Given the description of an element on the screen output the (x, y) to click on. 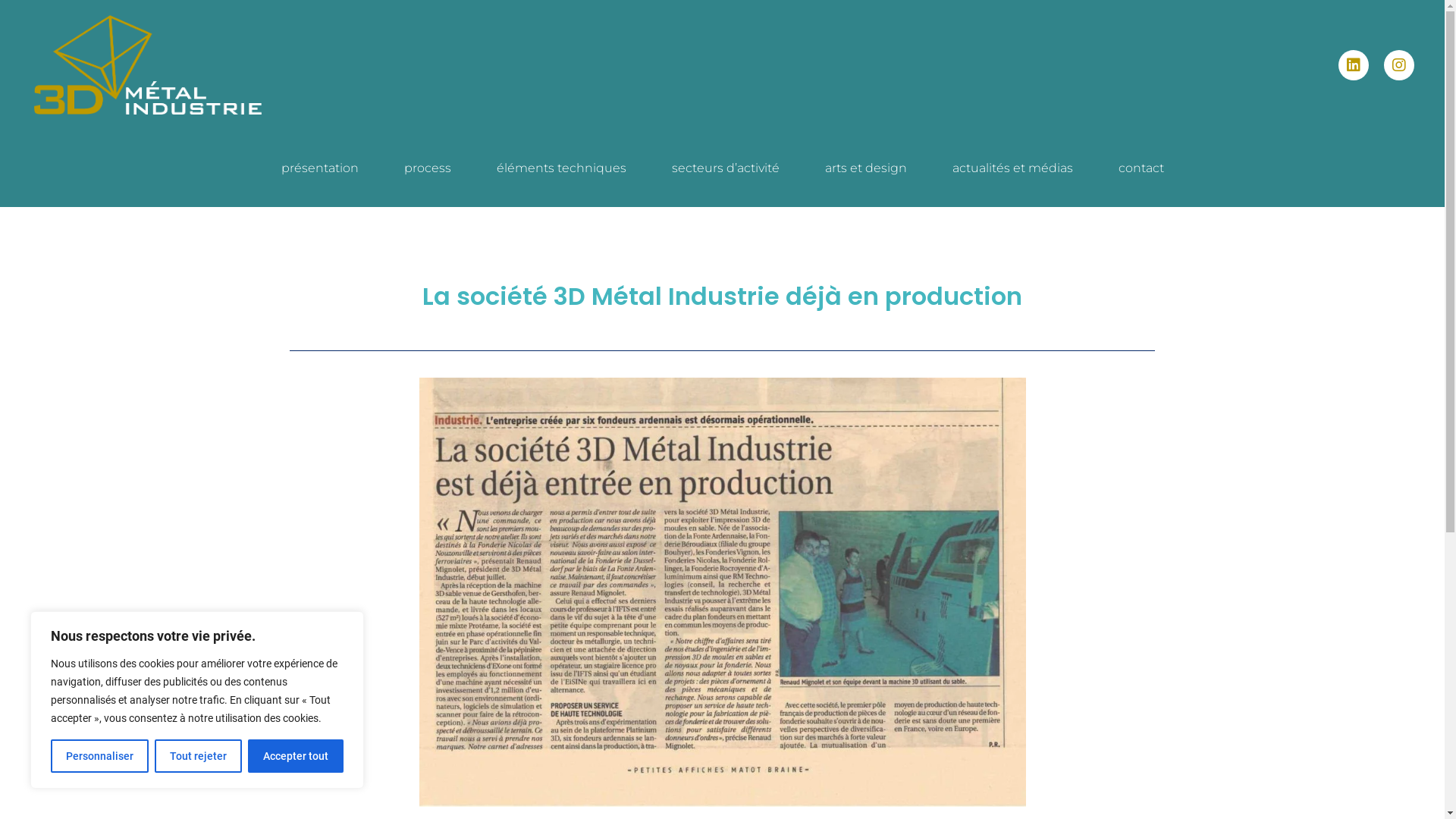
Tout rejeter Element type: text (197, 755)
arts et design Element type: text (865, 168)
Accepter tout Element type: text (295, 755)
contact Element type: text (1140, 168)
Personnaliser Element type: text (99, 755)
process Element type: text (426, 168)
